Given the description of an element on the screen output the (x, y) to click on. 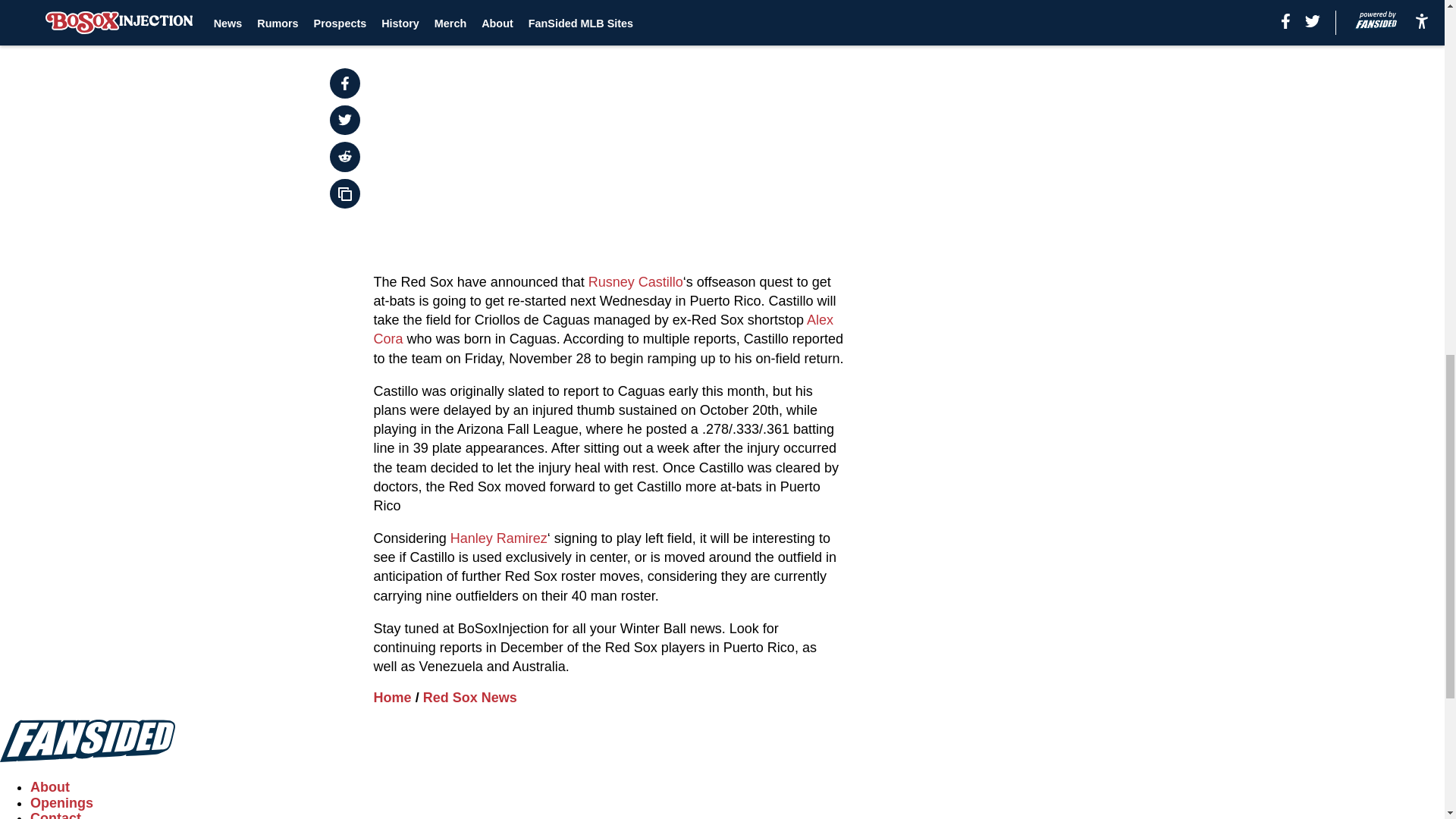
Red Sox News (469, 697)
Openings (61, 802)
About (49, 786)
Alex Cora (603, 329)
Home (393, 697)
Rusney Castillo (635, 281)
Hanley Ramirez (498, 538)
Contact (55, 814)
